Given the description of an element on the screen output the (x, y) to click on. 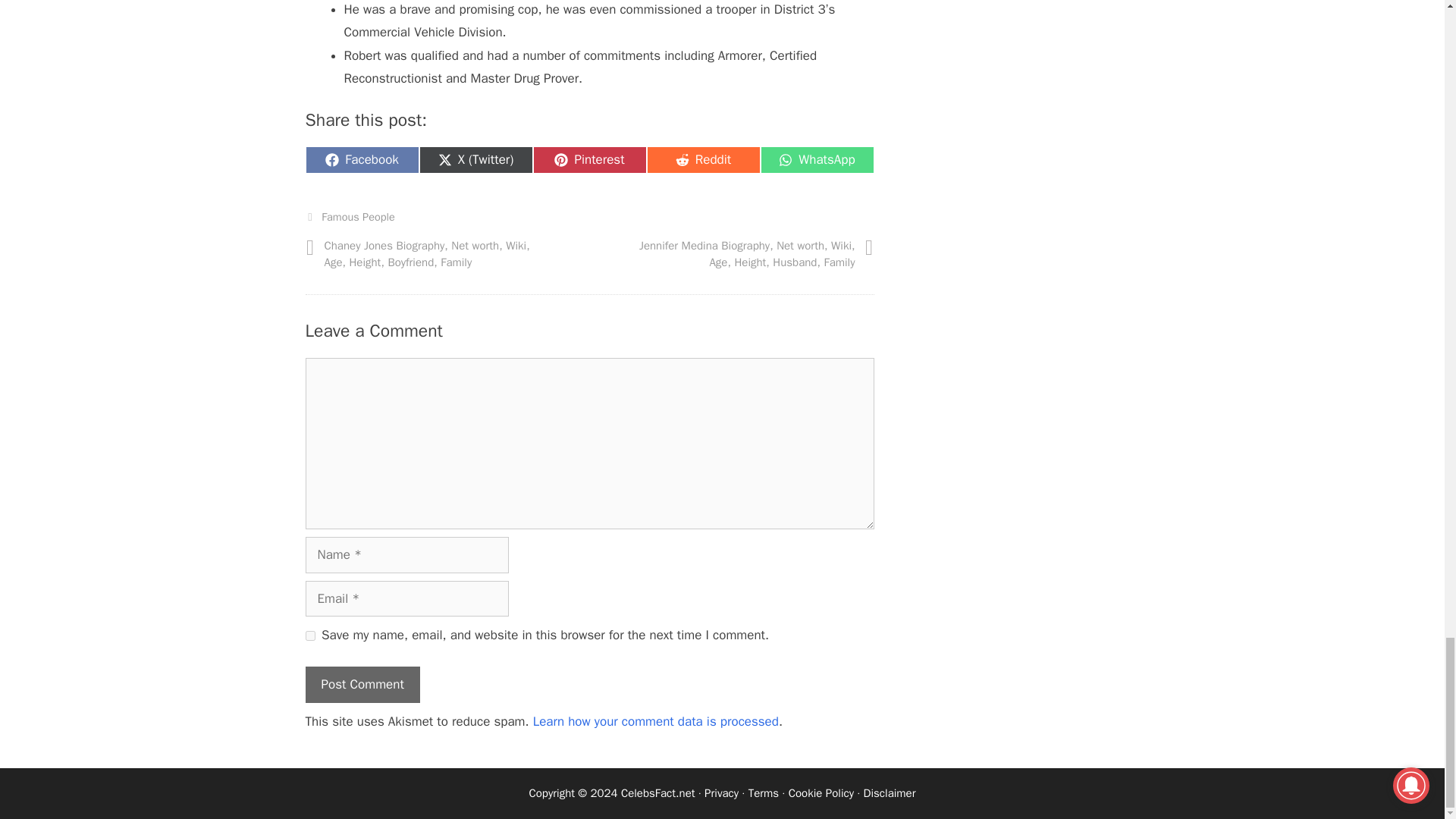
Post Comment (703, 159)
yes (361, 684)
Famous People (309, 635)
